Given the description of an element on the screen output the (x, y) to click on. 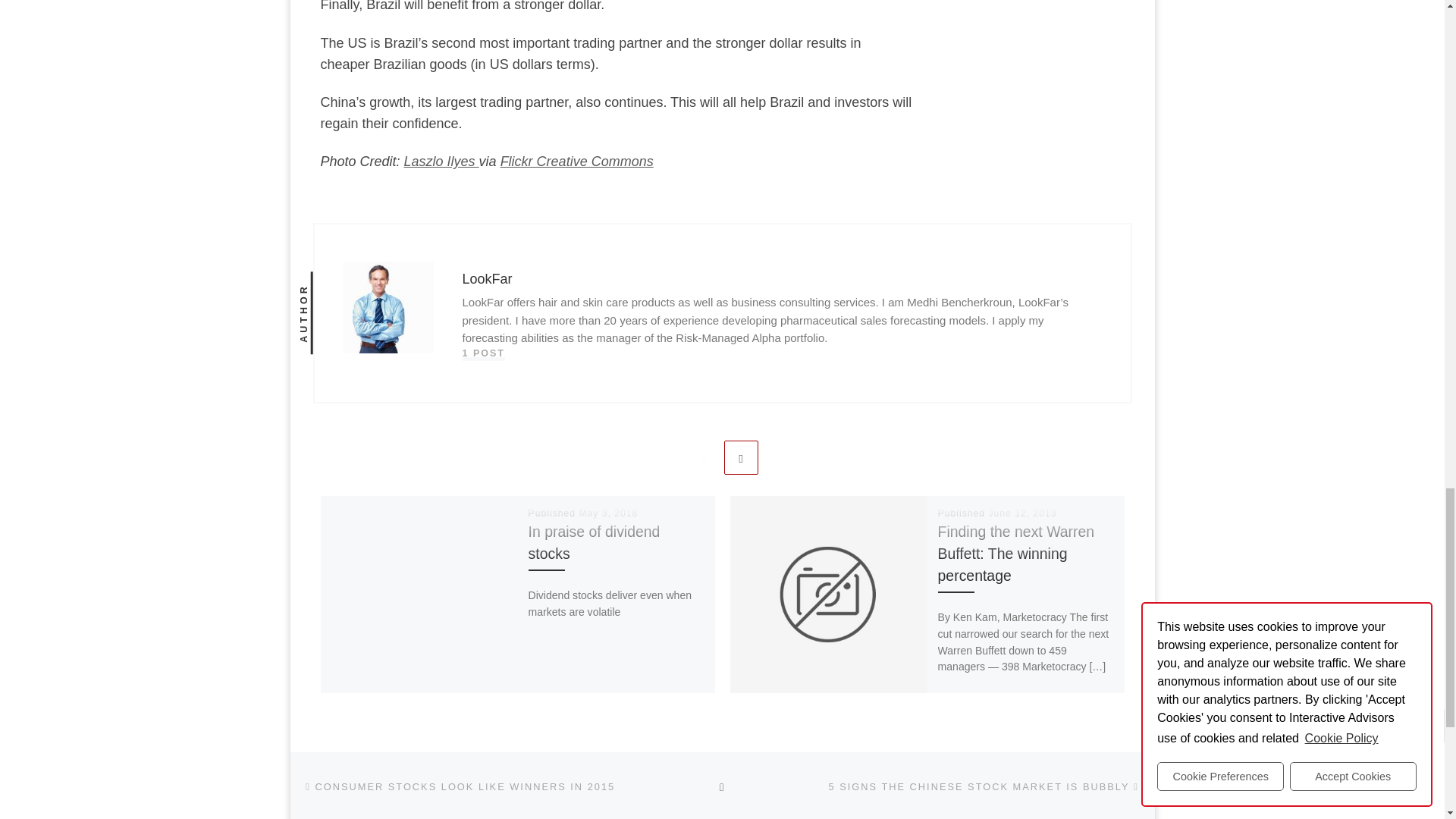
Previous related articles (702, 457)
In praise of dividend stocks (594, 542)
Flickr Creative Commons (576, 160)
Laszlo Ilyes (441, 160)
June 12, 2013 (1022, 512)
1 POST (484, 353)
View all the posts of the author (484, 353)
Finding the next Warren Buffett: The winning percentage (1015, 553)
Next related articles (740, 457)
May 3, 2018 (607, 512)
